Given the description of an element on the screen output the (x, y) to click on. 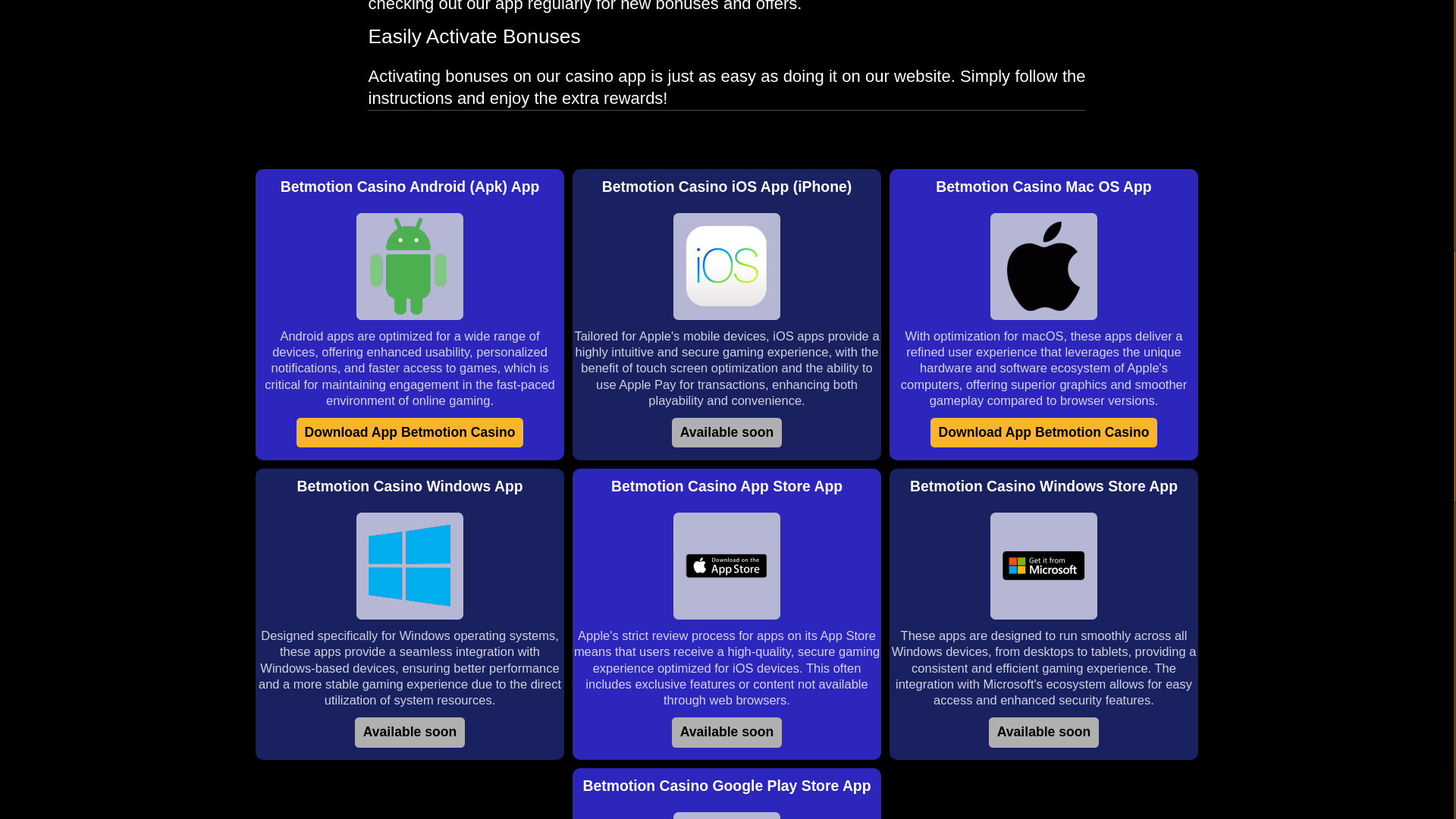
Download App Betmotion Casino (1043, 432)
Download App Betmotion Casino (410, 432)
